Given the description of an element on the screen output the (x, y) to click on. 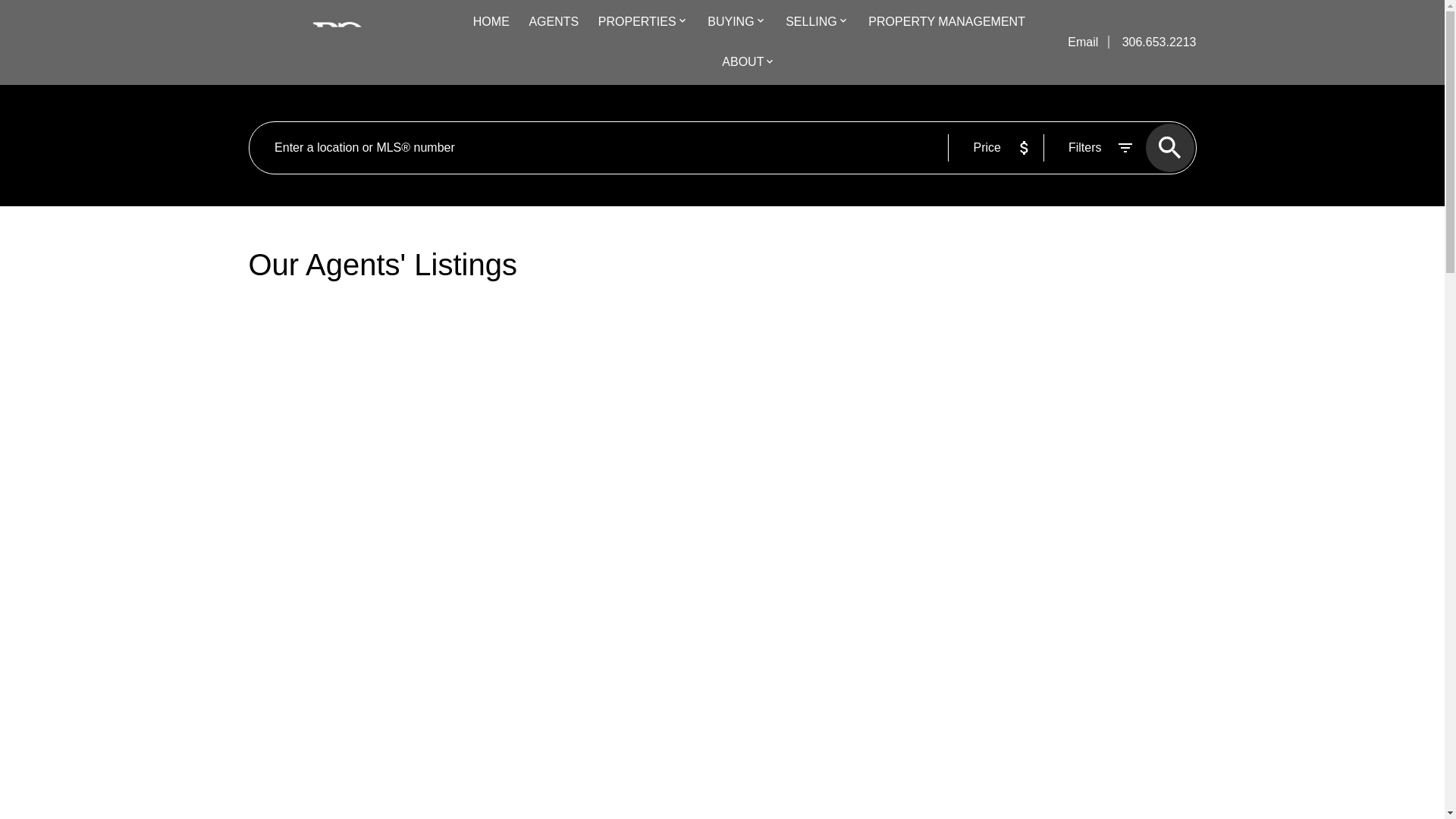
Email (1083, 42)
PROPERTIES (637, 22)
  306.653.2213 (1152, 42)
PROPERTY MANAGEMENT (946, 22)
HOME (491, 22)
ABOUT (742, 62)
BUYING (730, 22)
AGENTS (553, 22)
SELLING (811, 22)
